Given the description of an element on the screen output the (x, y) to click on. 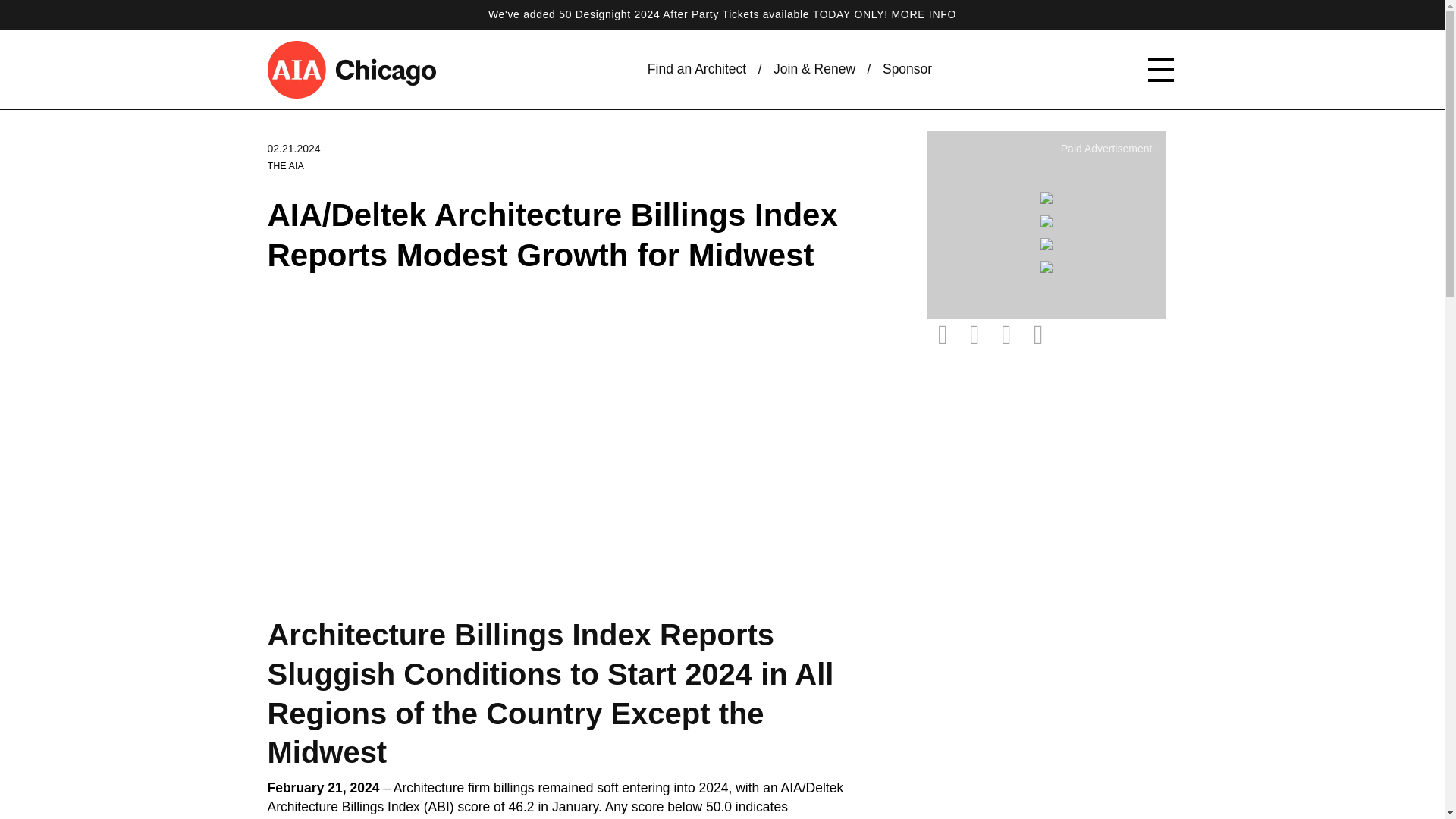
THE AIA (284, 166)
Find an Architect (695, 69)
Sponsor (906, 69)
